Given the description of an element on the screen output the (x, y) to click on. 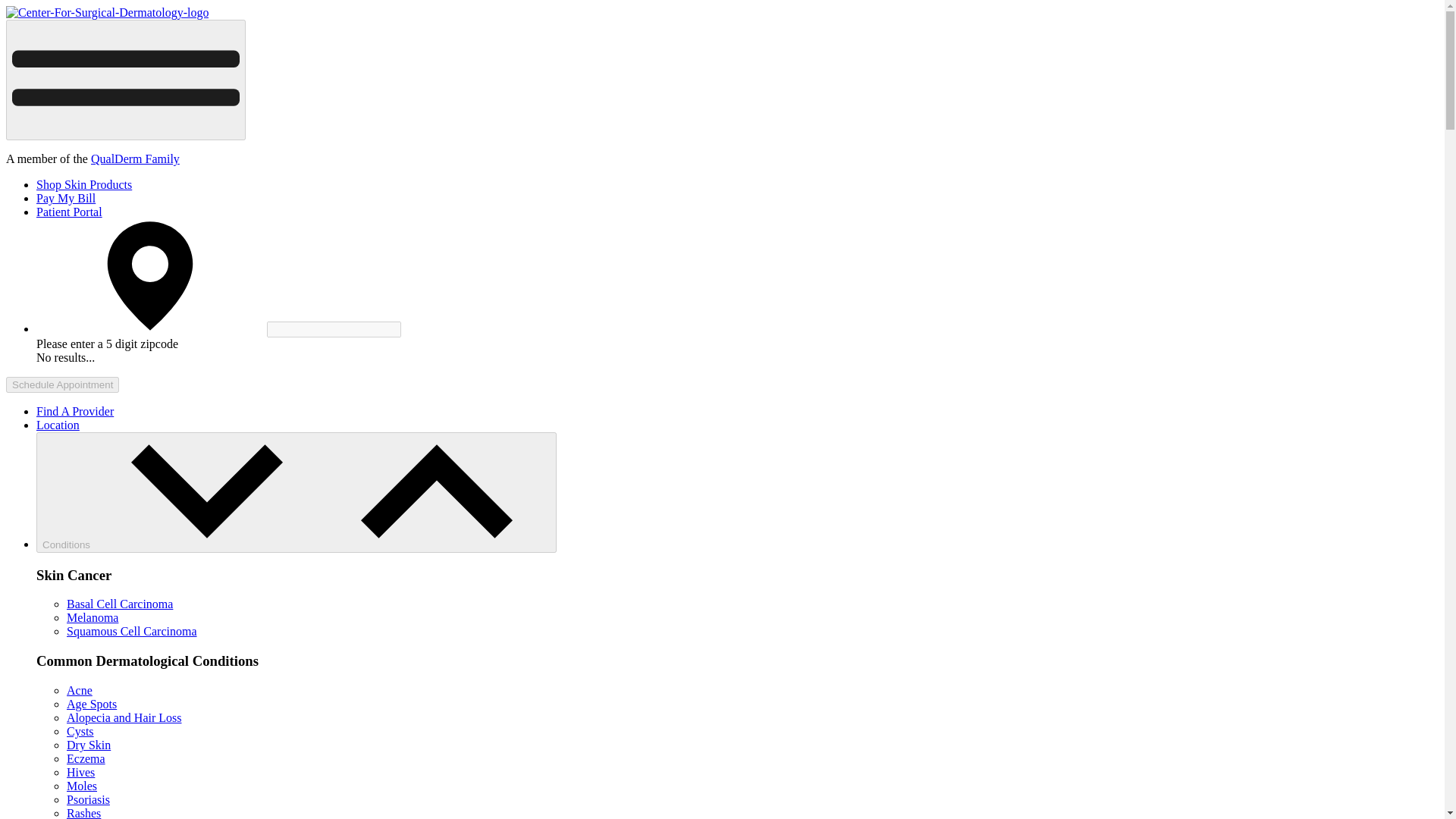
Age Spots (91, 703)
QualDerm Family (134, 158)
Psoriasis (88, 799)
Acne (79, 689)
Conditions (296, 492)
Moles (81, 785)
Eczema (85, 758)
Shop Skin Products (84, 184)
Pay My Bill (66, 197)
Patient Portal (68, 211)
